Given the description of an element on the screen output the (x, y) to click on. 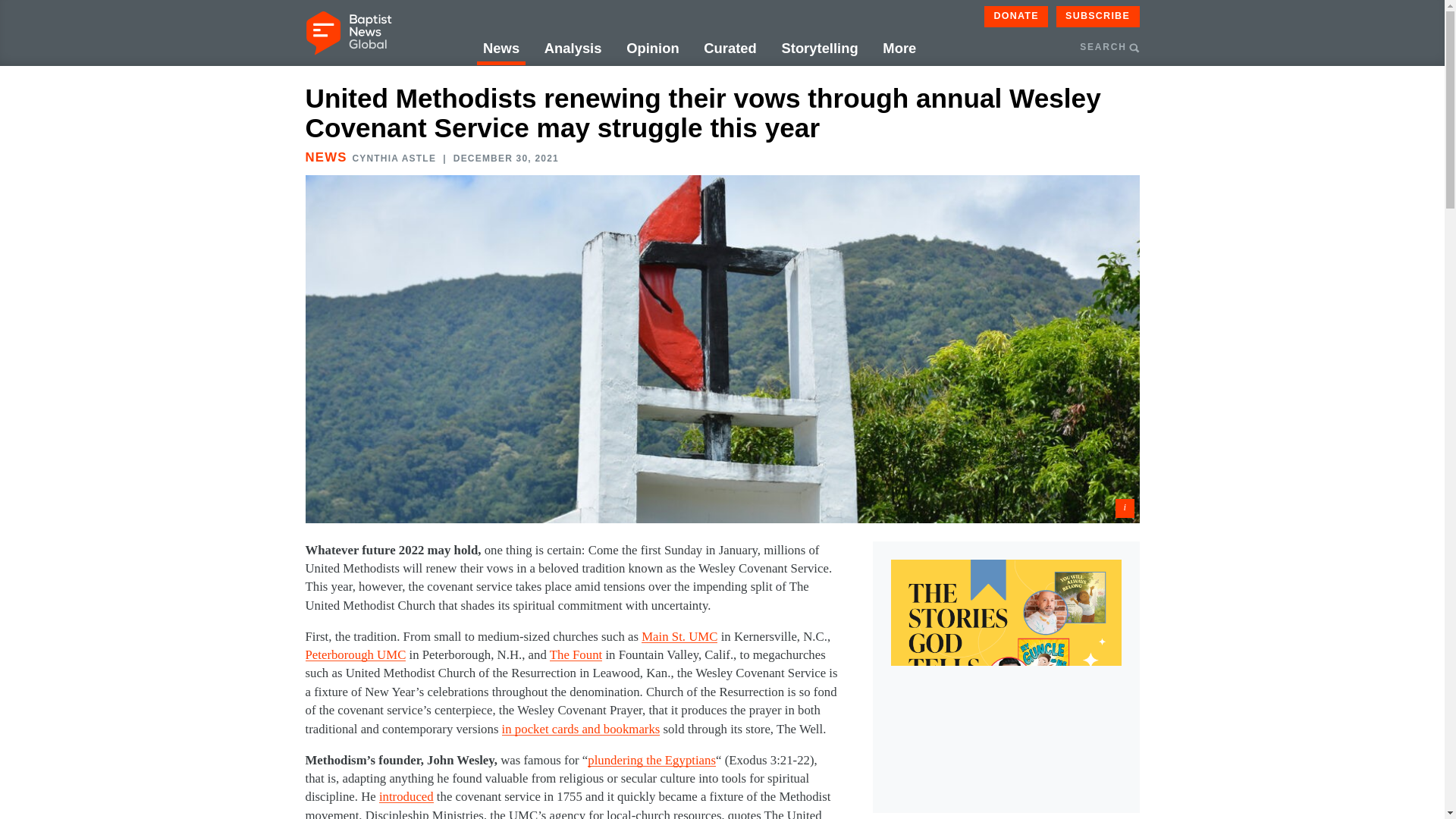
Search (1193, 119)
Posts by Cynthia Astle (393, 158)
DONATE (1016, 16)
NEWS (325, 156)
SUBSCRIBE (1098, 16)
Storytelling (819, 49)
More (898, 49)
Analysis (573, 49)
Curated (729, 49)
Opinion (652, 49)
